Given the description of an element on the screen output the (x, y) to click on. 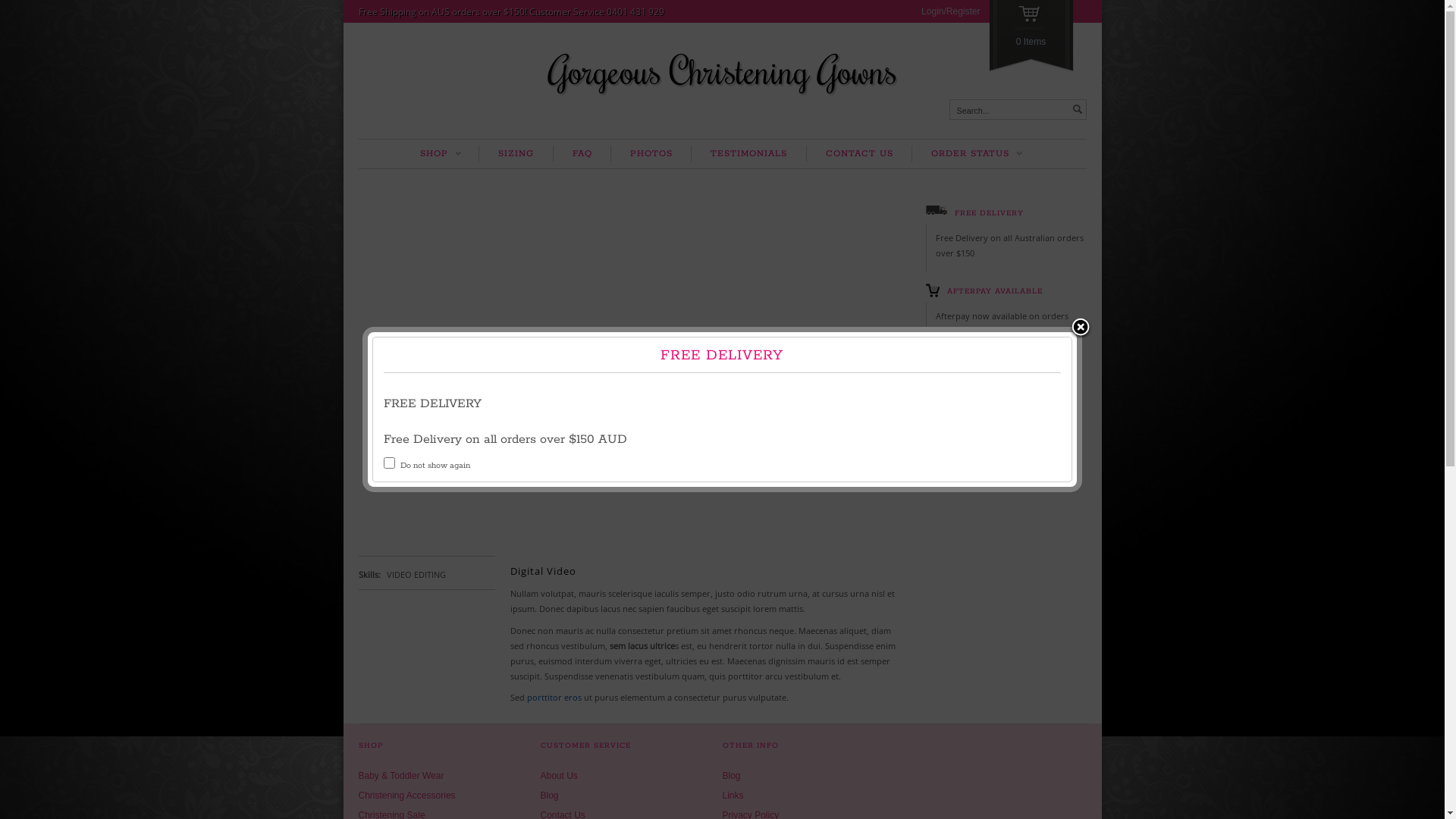
Christening Accessories Element type: text (406, 795)
Links Element type: text (732, 795)
CONTACT US Element type: text (859, 153)
Login/Register Element type: text (950, 11)
Blog Element type: text (548, 795)
Blog Element type: text (730, 775)
SIZING Element type: text (515, 153)
TESTIMONIALS Element type: text (748, 153)
About Us Element type: text (558, 775)
  Element type: text (1076, 109)
0 Items Element type: text (1030, 36)
porttitor eros Element type: text (553, 696)
PHOTOS Element type: text (650, 153)
Baby & Toddler Wear Element type: text (400, 775)
Gorgeous Christening Gowns Element type: text (721, 70)
FAQ Element type: text (581, 153)
